Given the description of an element on the screen output the (x, y) to click on. 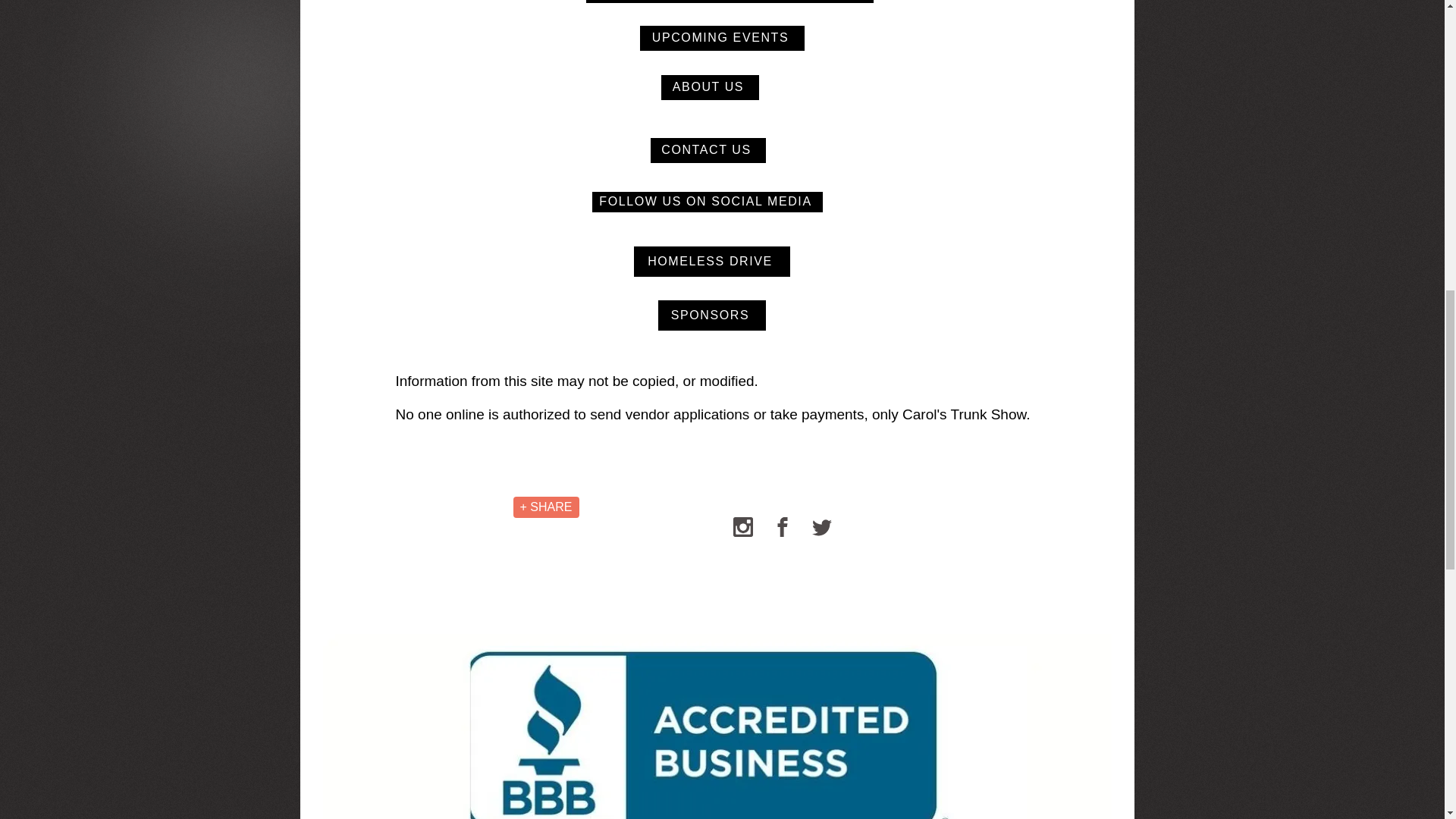
SPONSORS (711, 315)
UPCOMING EVENTS (722, 37)
CONTACT US (707, 150)
HOMELESS DRIVE (711, 261)
FOLLOW US ON SOCIAL MEDIA (706, 201)
CLICK HERE FOR PAINT PARTY EVENTS (728, 1)
ABOUT US (709, 87)
